Given the description of an element on the screen output the (x, y) to click on. 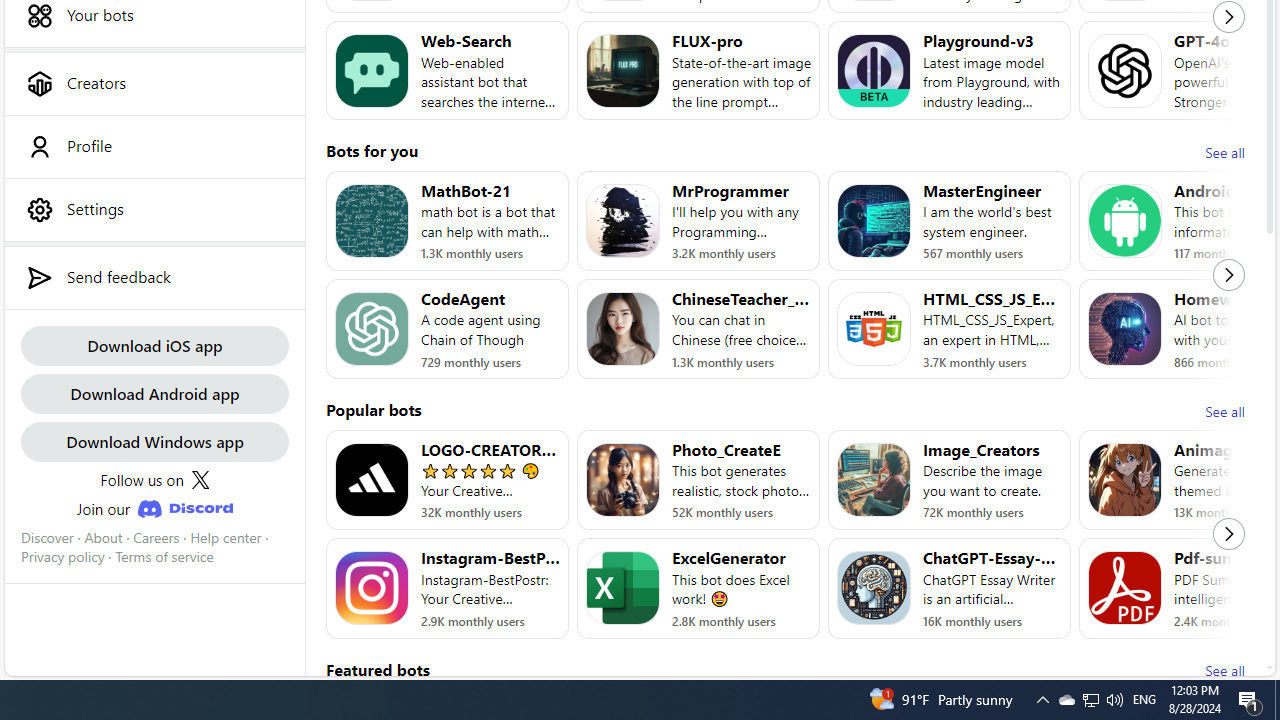
Settings (154, 209)
Bot image for HTML_CSS_JS_Expert (874, 329)
Bot image for AndroidAssistant (1124, 220)
Bot image for Playground-v3 (874, 70)
Download Windows app (154, 441)
About (103, 537)
Bot image for Image_Creators (874, 480)
Terms of service (164, 557)
Bot image for MasterEngineer (874, 220)
Creators (154, 83)
Bot image for MrProgrammer (623, 220)
